Given the description of an element on the screen output the (x, y) to click on. 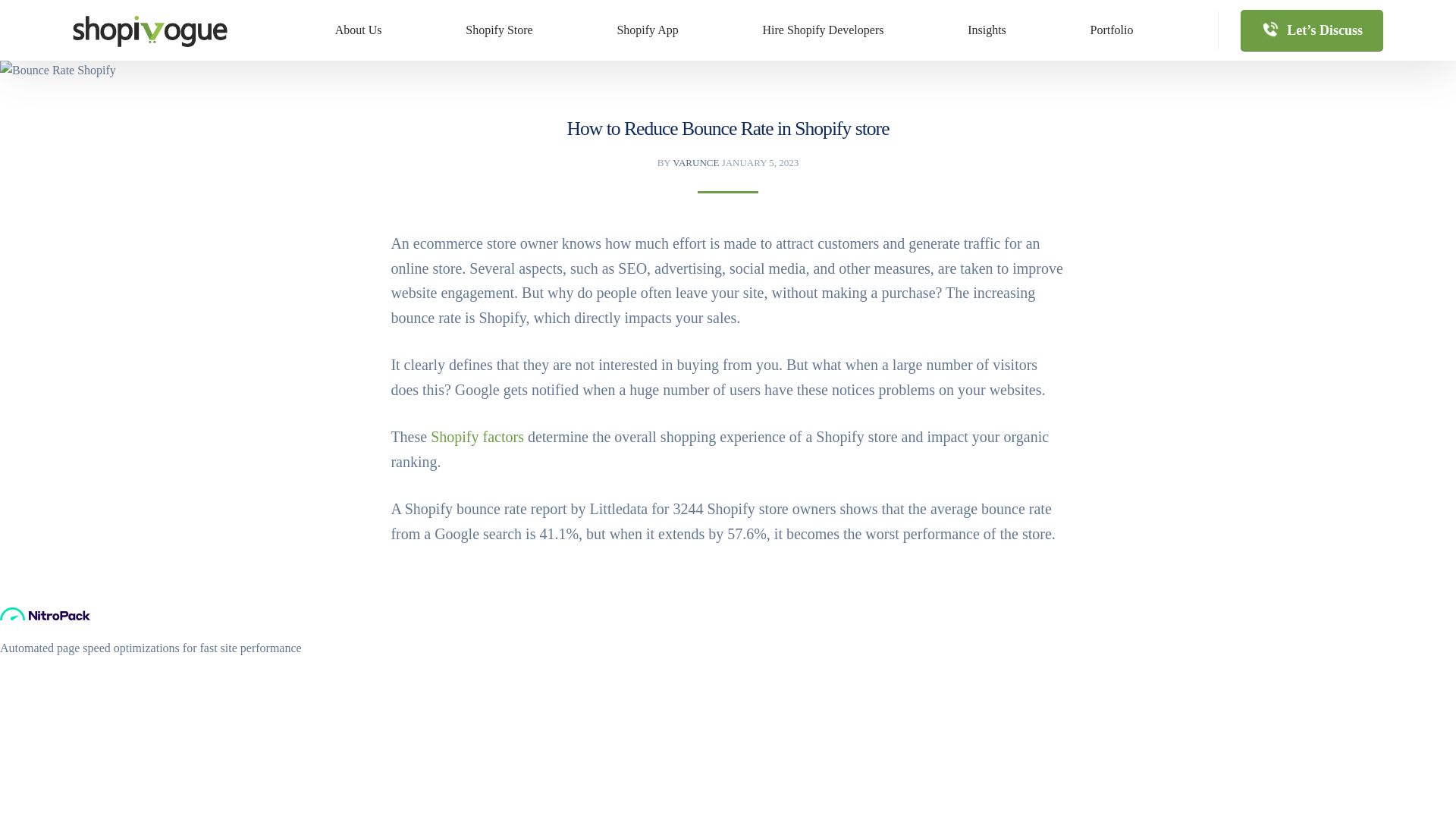
Hire Shopify Developers (823, 30)
Insights (987, 30)
Shopify App (647, 30)
Portfolio (1111, 30)
Shopify Store (499, 30)
About Us (357, 30)
Shopify factors (477, 436)
Posts by Varunce (695, 162)
VARUNCE (695, 162)
